Given the description of an element on the screen output the (x, y) to click on. 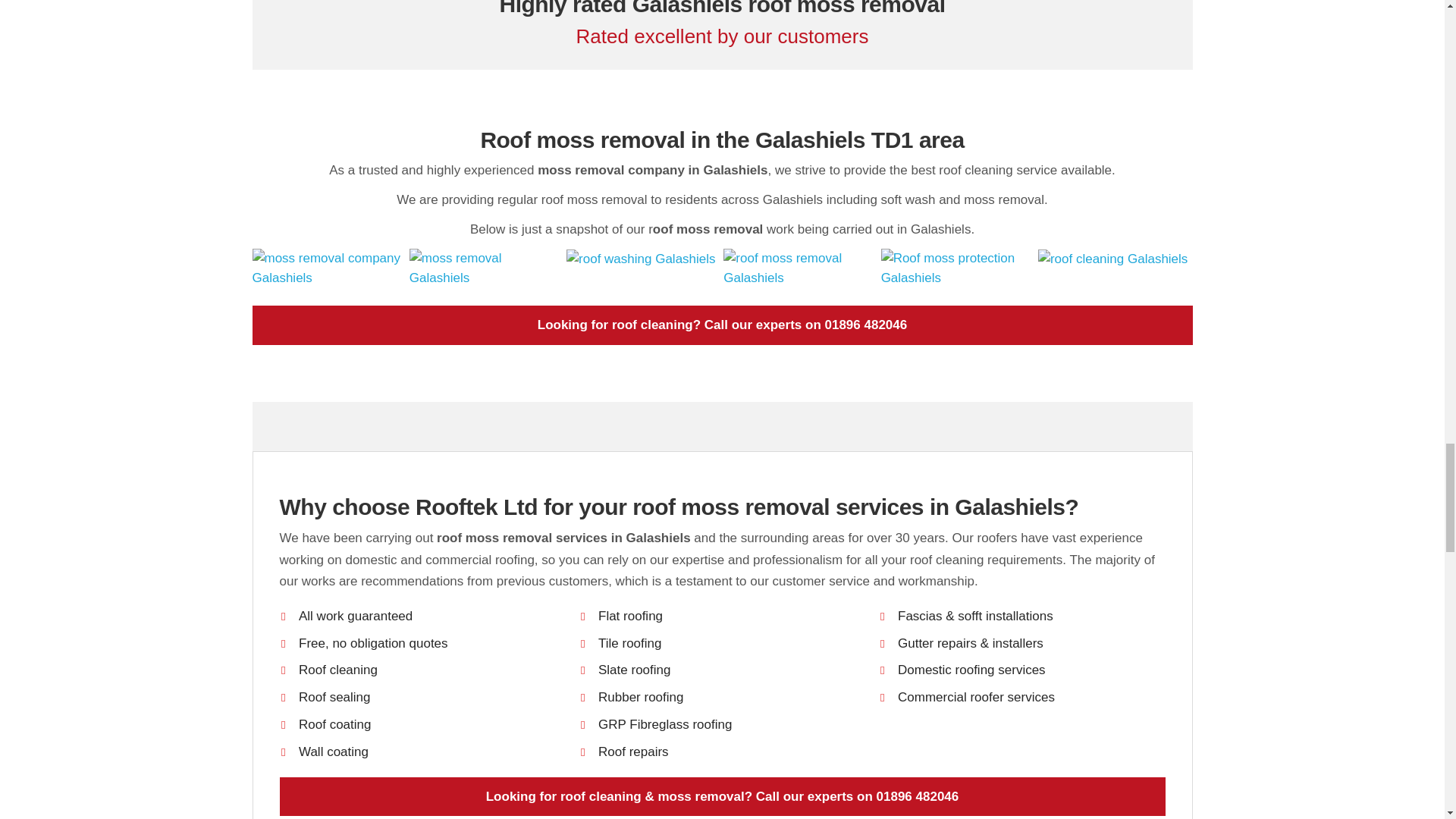
Looking for roof cleaning? Call our experts on 01896 482046 (721, 324)
